Given the description of an element on the screen output the (x, y) to click on. 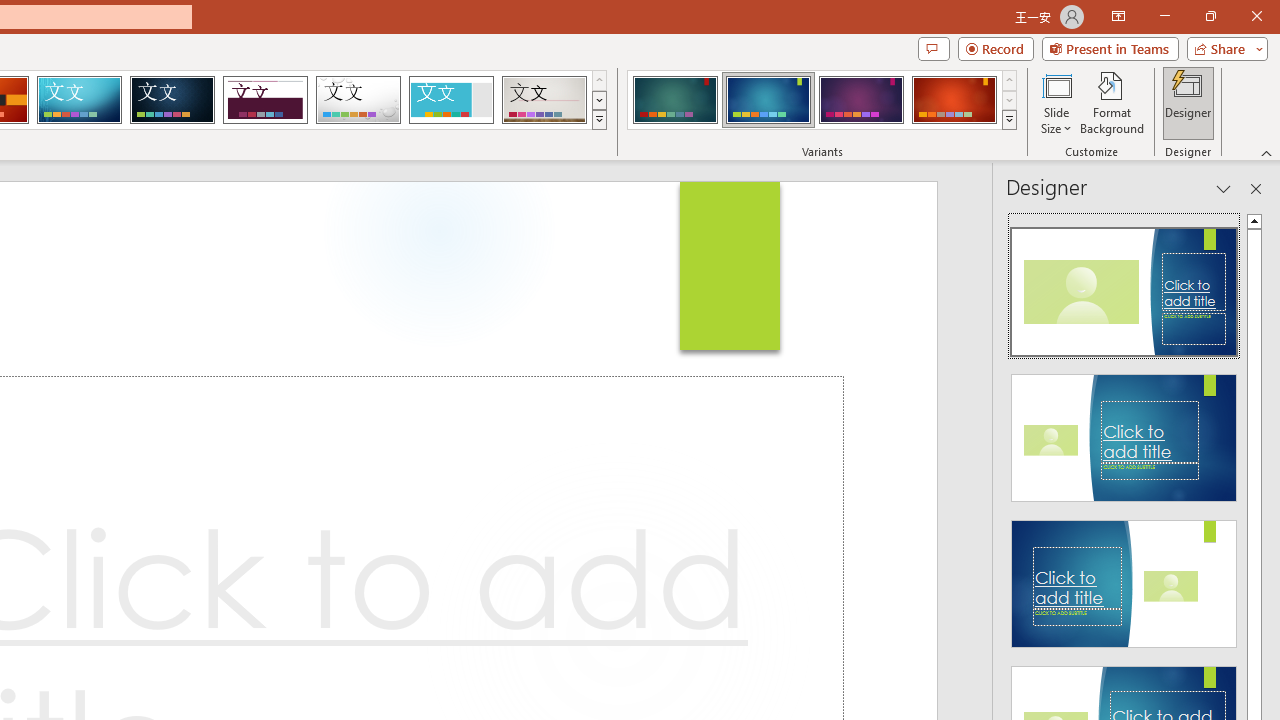
Design Idea (1124, 577)
